Given the description of an element on the screen output the (x, y) to click on. 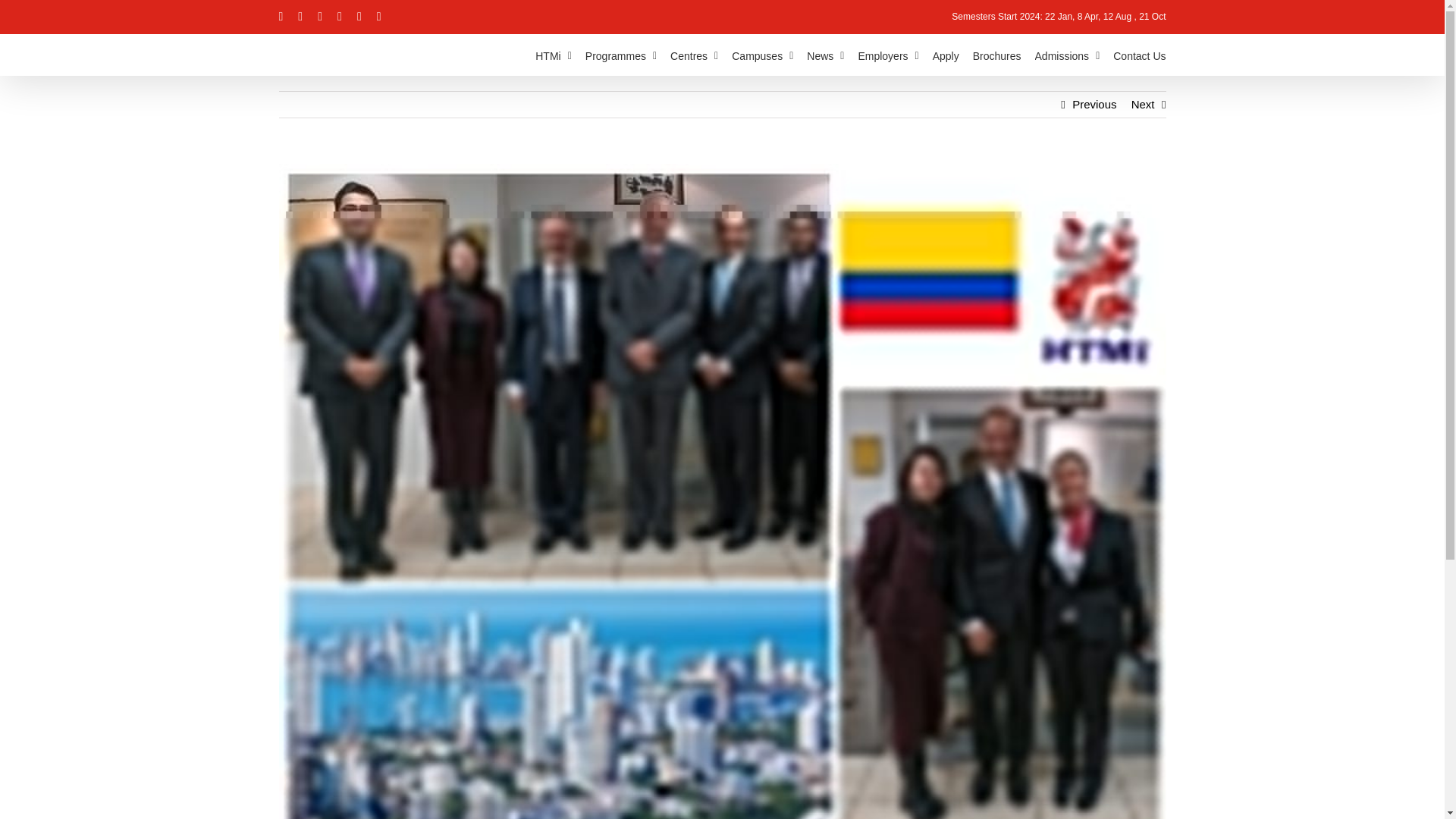
Semesters Start 2024: 22 Jan, 8 Apr, 12 Aug , 21 Oct (1059, 16)
HTMi (553, 54)
Centres (693, 54)
Home (553, 54)
Programmes (620, 54)
